Given the description of an element on the screen output the (x, y) to click on. 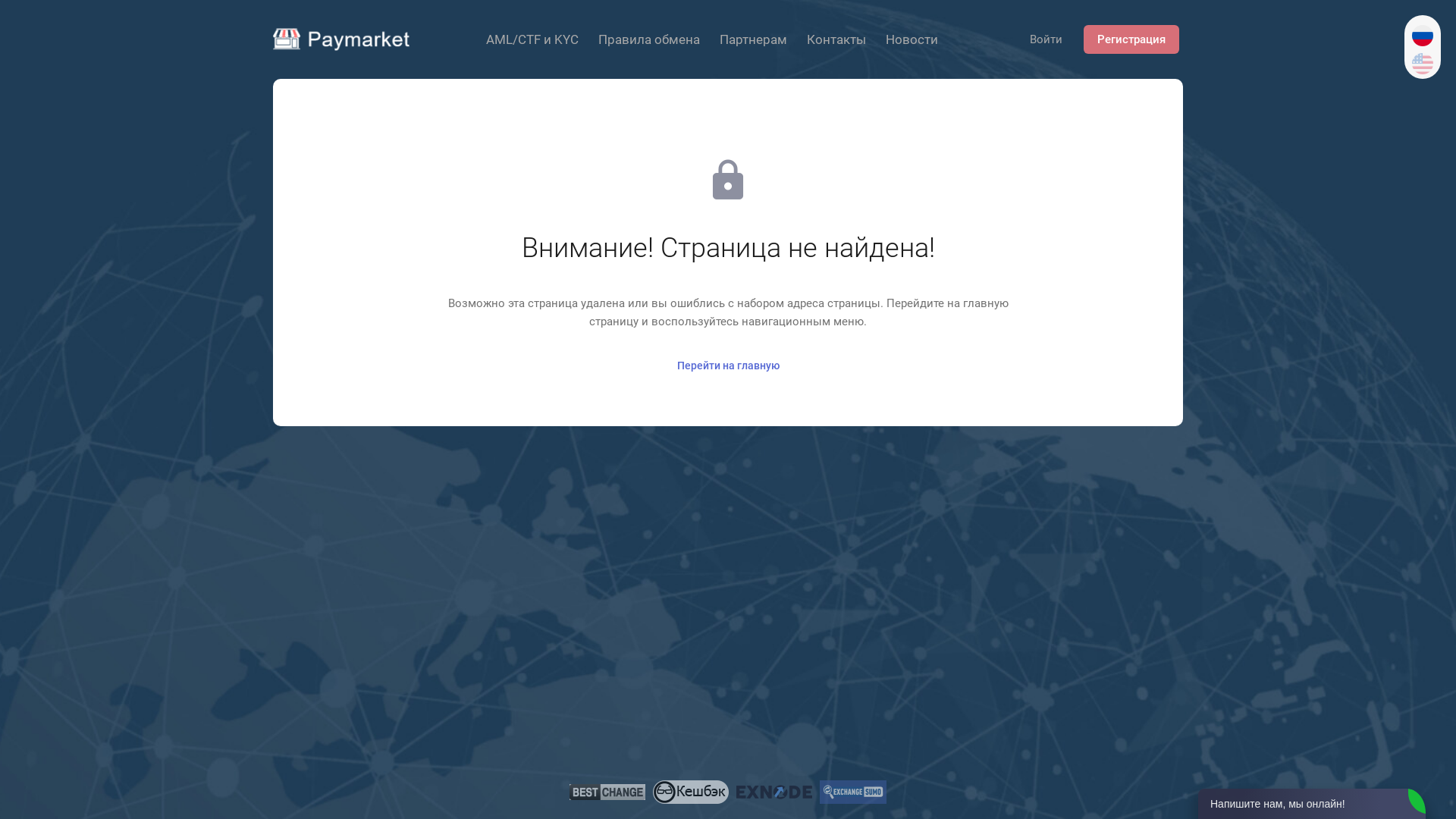
Paymarket Element type: hover (341, 39)
